Given the description of an element on the screen output the (x, y) to click on. 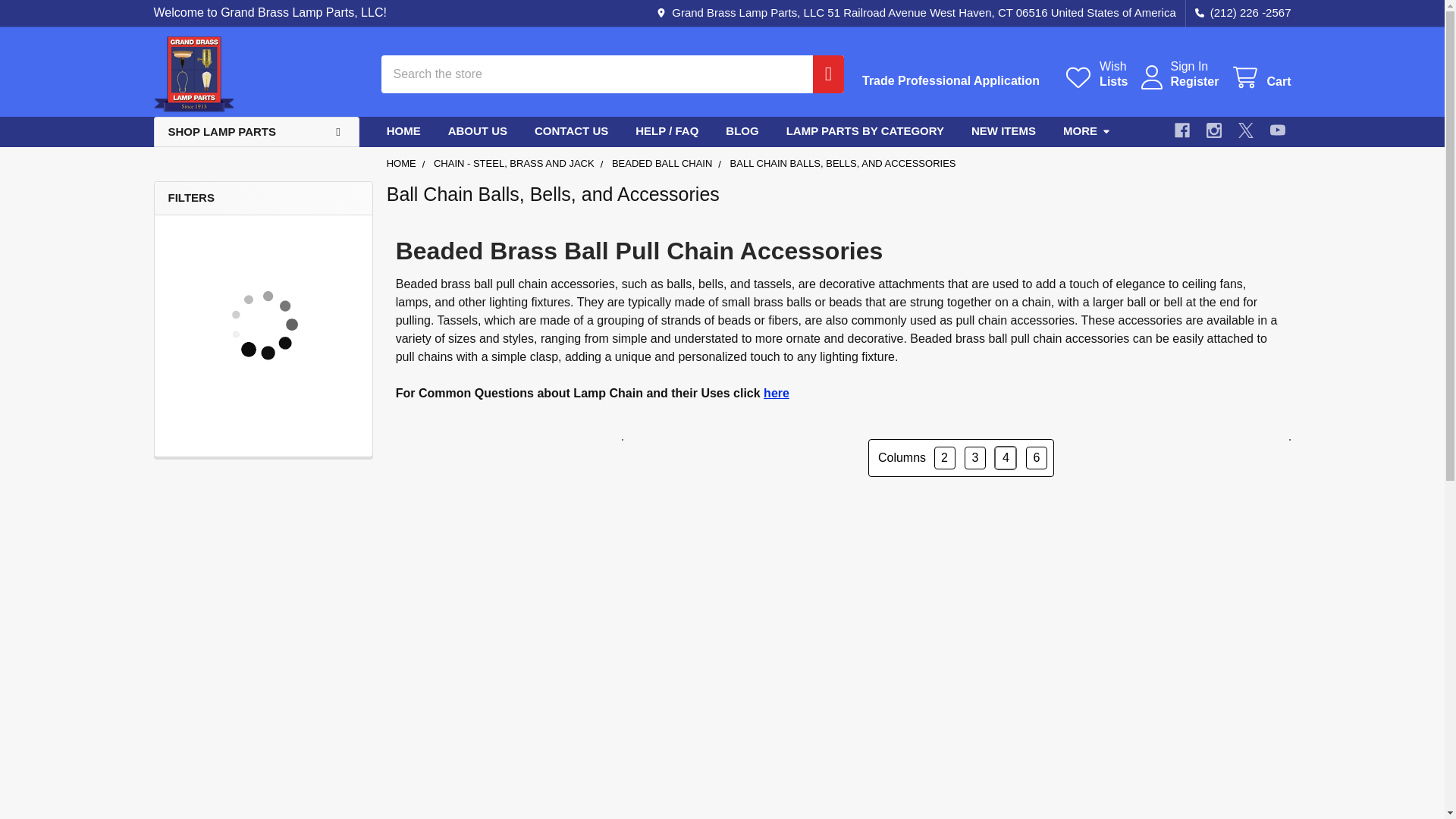
Search (821, 74)
Search (821, 74)
X (1095, 73)
Youtube (1245, 130)
4 (1276, 130)
Trade Professional Application (192, 74)
Wish Lists (950, 80)
Cart (1095, 73)
Register (1260, 77)
2 (1194, 81)
